Given the description of an element on the screen output the (x, y) to click on. 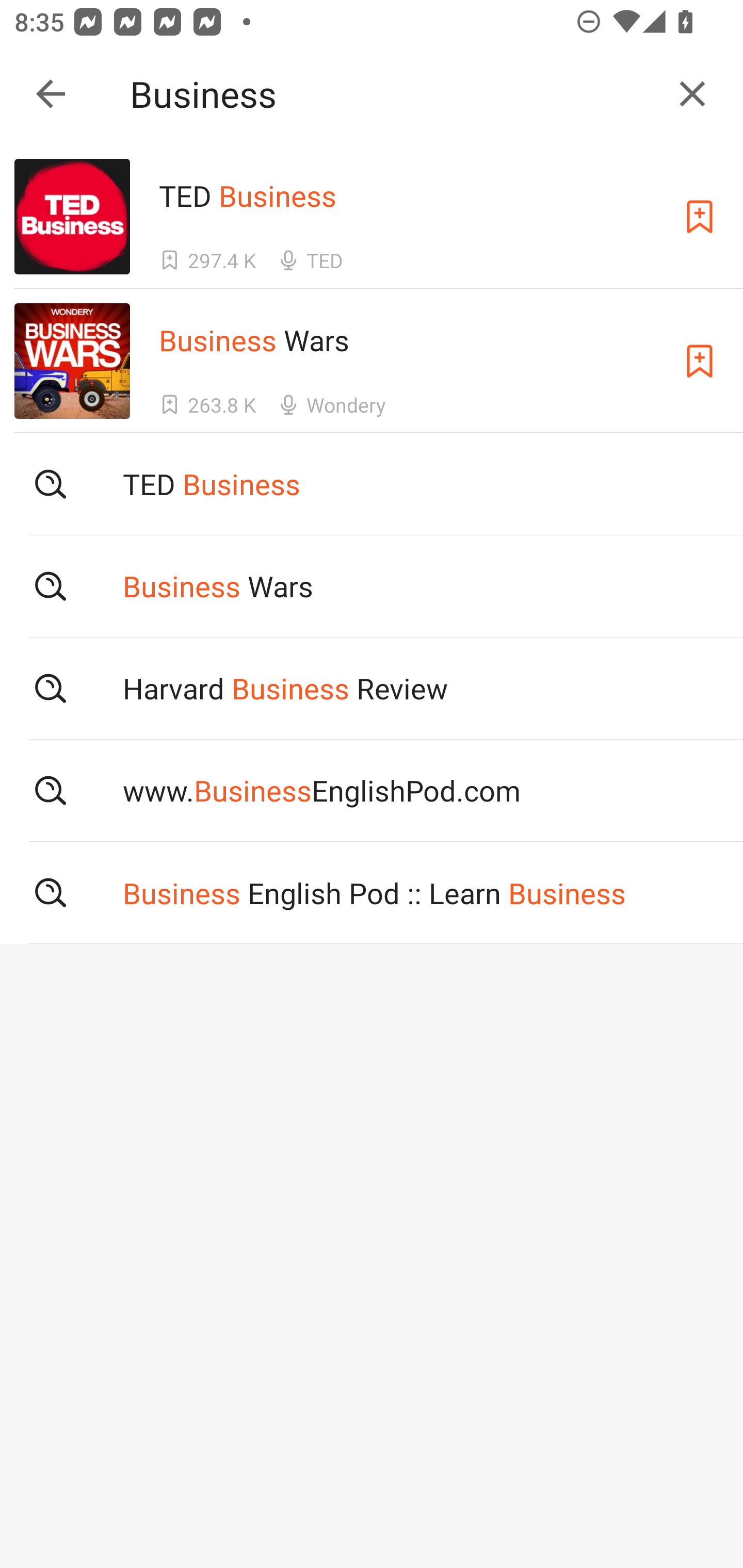
Collapse (50, 93)
Clear query (692, 93)
Business (393, 94)
Subscribe (699, 216)
Subscribe (699, 360)
 TED Business (371, 483)
 Business Wars (371, 585)
 Harvard Business Review (371, 688)
 www.BusinessEnglishPod.com (371, 791)
